Given the description of an element on the screen output the (x, y) to click on. 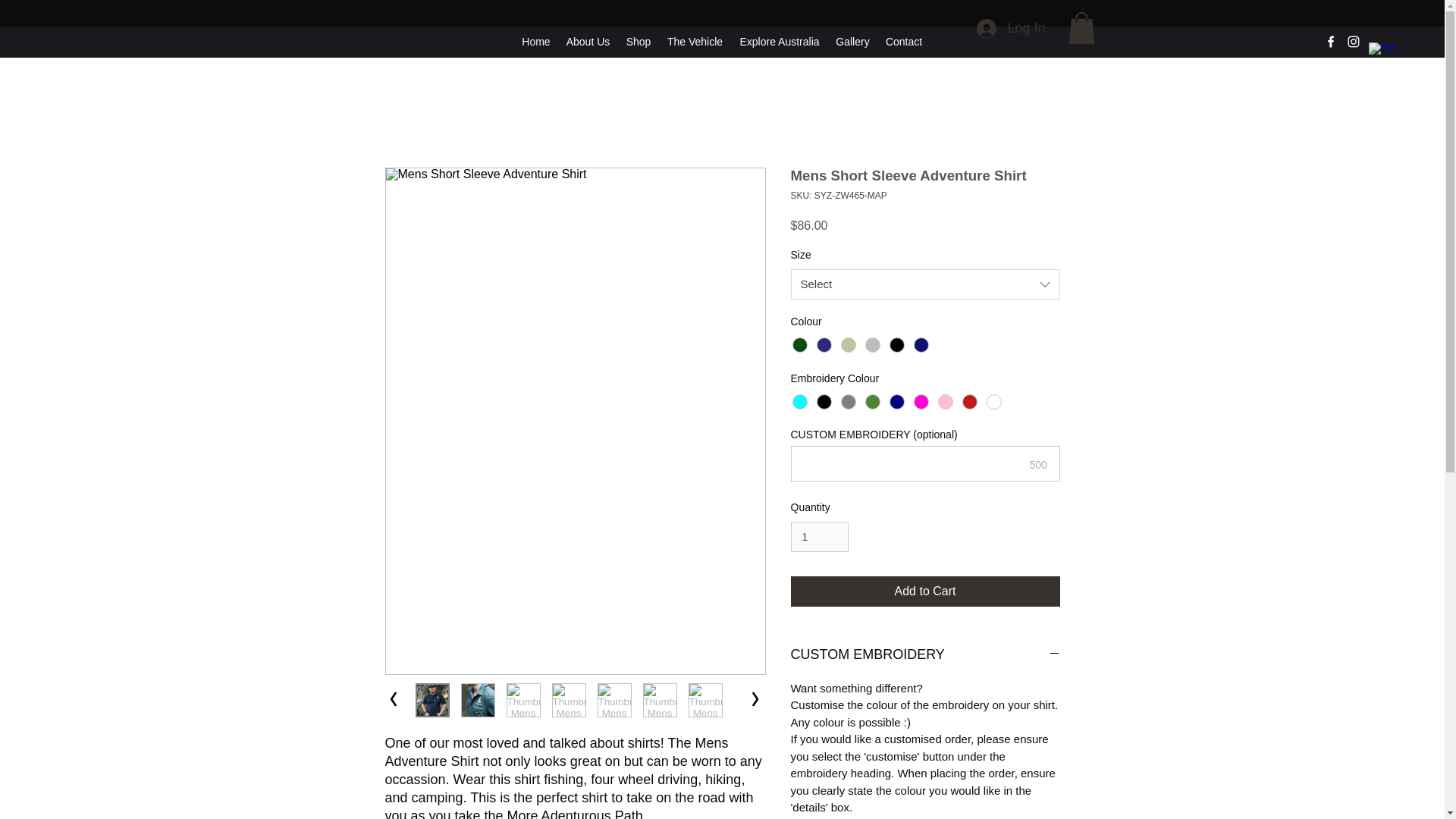
Contact (903, 41)
Add to Cart (924, 591)
Shop (638, 41)
Home (535, 41)
Gallery (852, 41)
Log In (1010, 28)
About Us (587, 41)
The Vehicle (694, 41)
Select (924, 284)
CUSTOM EMBROIDERY (924, 654)
Explore Australia (779, 41)
1 (818, 536)
